Given the description of an element on the screen output the (x, y) to click on. 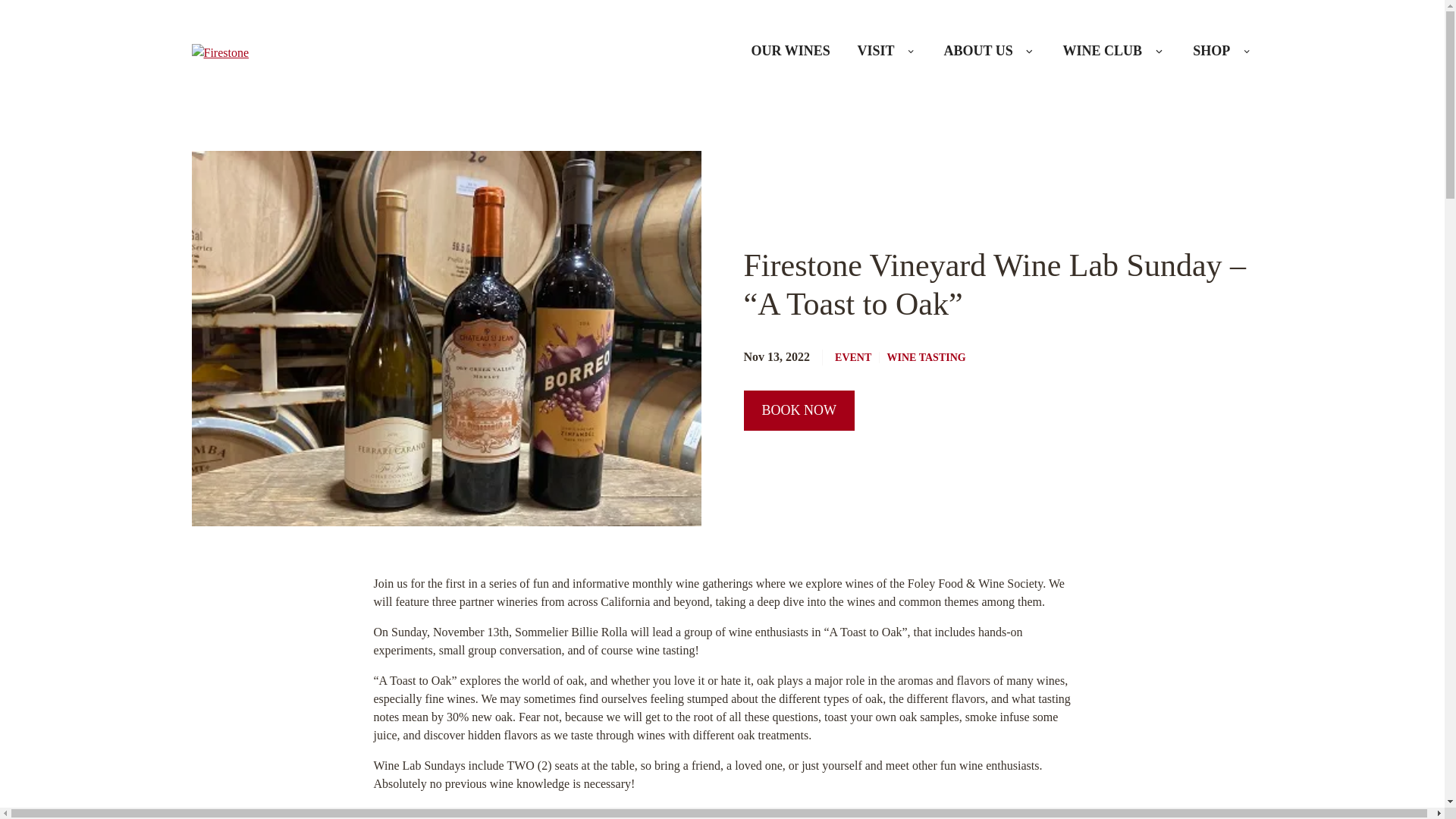
WINE TASTING (922, 357)
VISIT (876, 50)
WINE CLUB (1102, 50)
ABOUT US (978, 50)
EVENT (852, 357)
BOOK NOW (798, 410)
SHOP (1211, 50)
OUR WINES (790, 50)
